Given the description of an element on the screen output the (x, y) to click on. 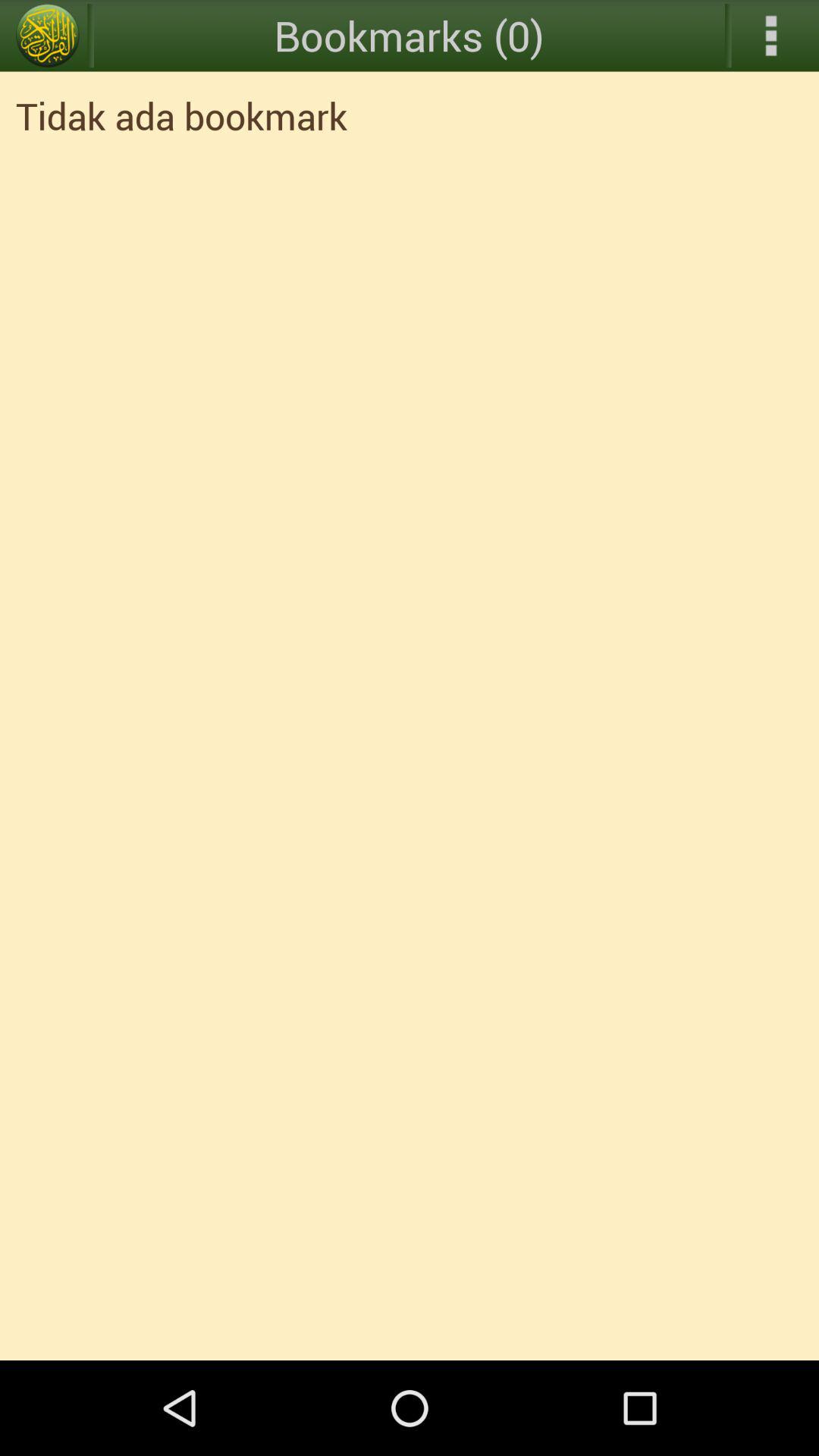
toggle menu (47, 35)
